Given the description of an element on the screen output the (x, y) to click on. 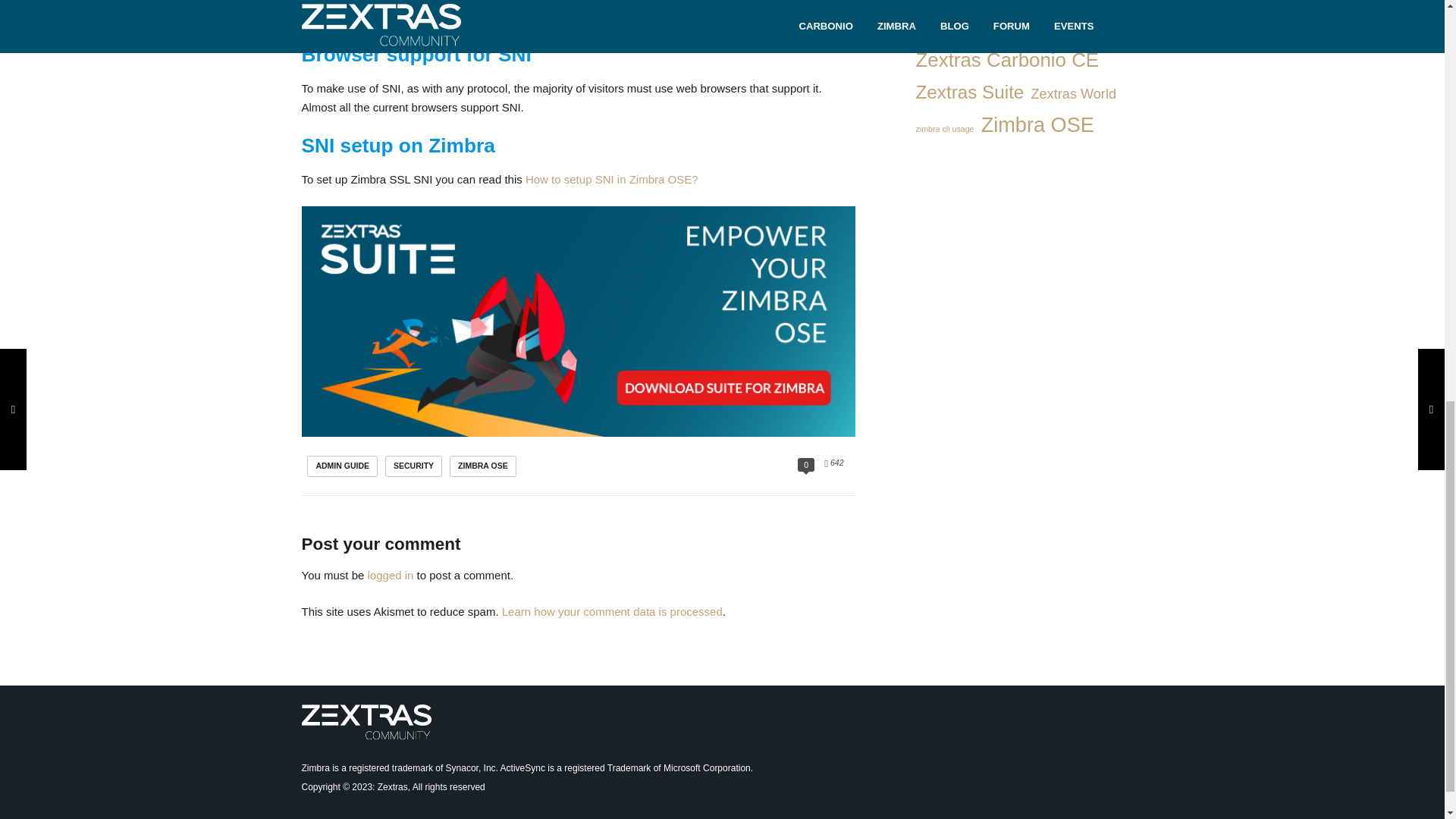
How to setup SNI in Zimbra OSE? (611, 178)
ADMIN GUIDE (342, 465)
Learn how your comment data is processed (612, 611)
SECURITY (413, 465)
0 (805, 464)
ZIMBRA OSE (482, 465)
logged in (390, 574)
